Given the description of an element on the screen output the (x, y) to click on. 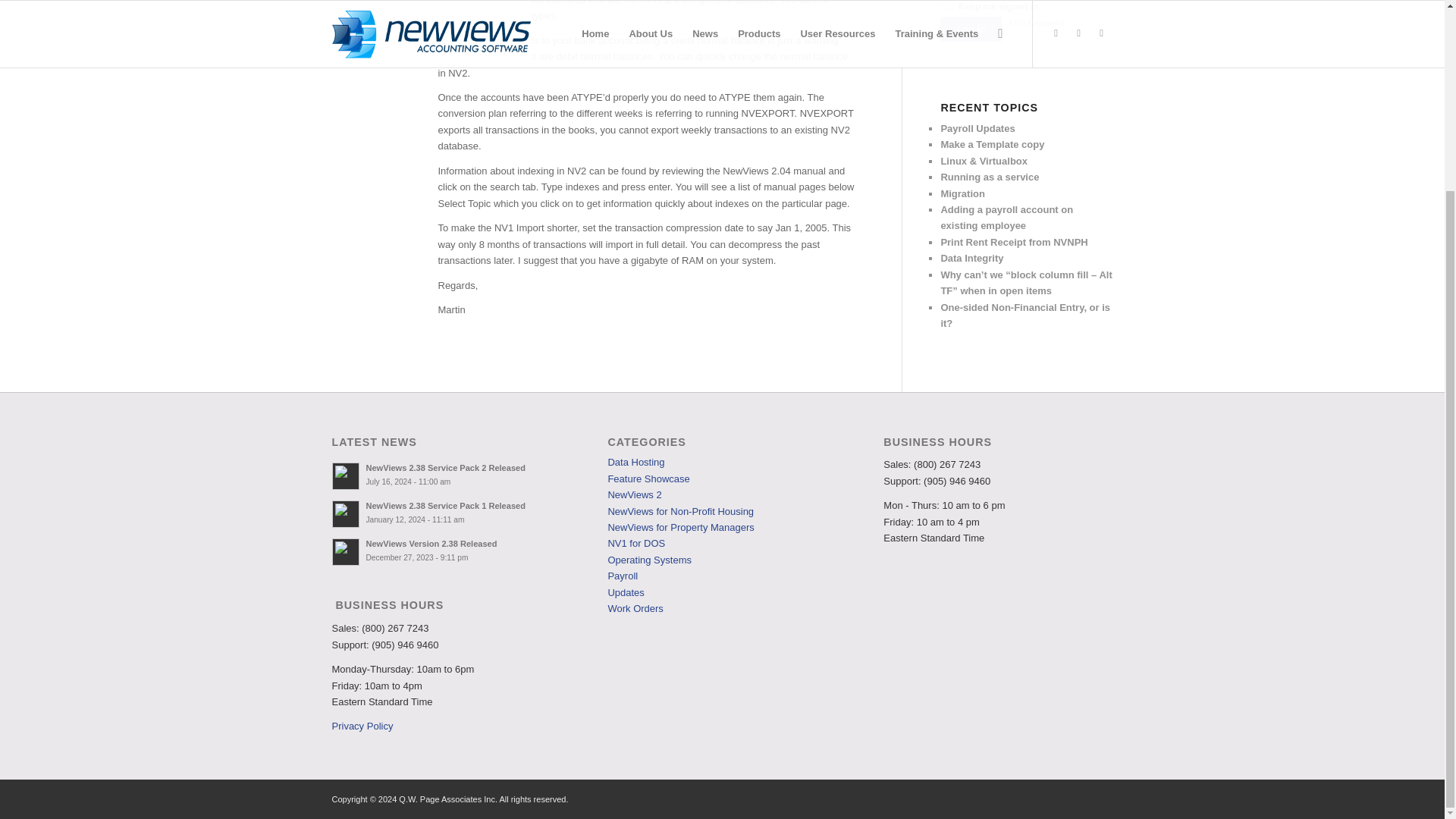
Read: NewViews 2.38 Service Pack 2 Released (345, 475)
Read: NewViews Version 2.38 Released (345, 551)
forever (948, 4)
Read: NewViews 2.38 Service Pack 1 Released (345, 513)
Read: NewViews 2.38 Service Pack 1 Released (444, 505)
Read: NewViews Version 2.38 Released (430, 542)
Lost Password (1058, 22)
Read: NewViews 2.38 Service Pack 2 Released (444, 467)
